Given the description of an element on the screen output the (x, y) to click on. 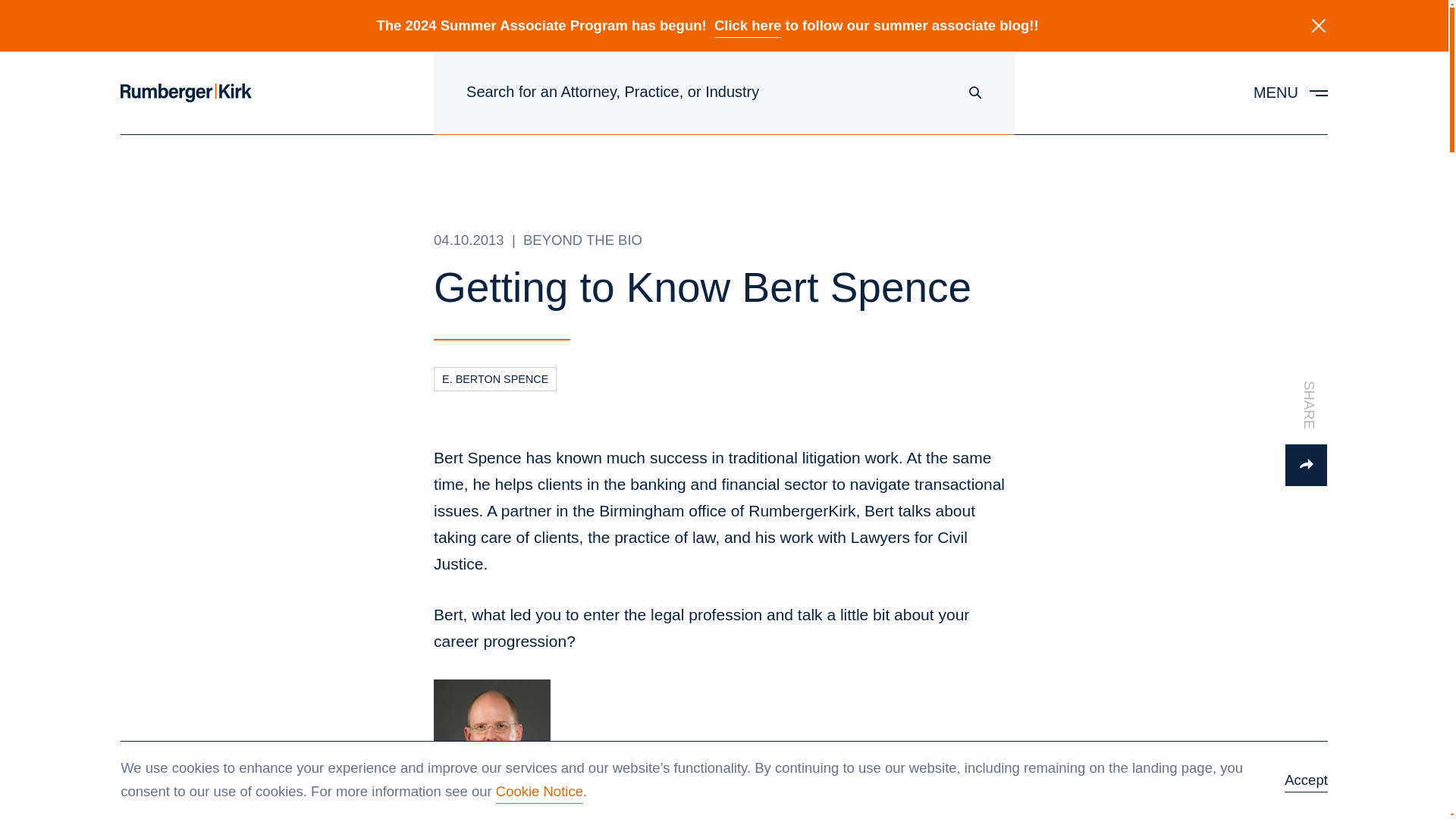
Click here (747, 25)
Home (185, 92)
MENU (1290, 93)
